Given the description of an element on the screen output the (x, y) to click on. 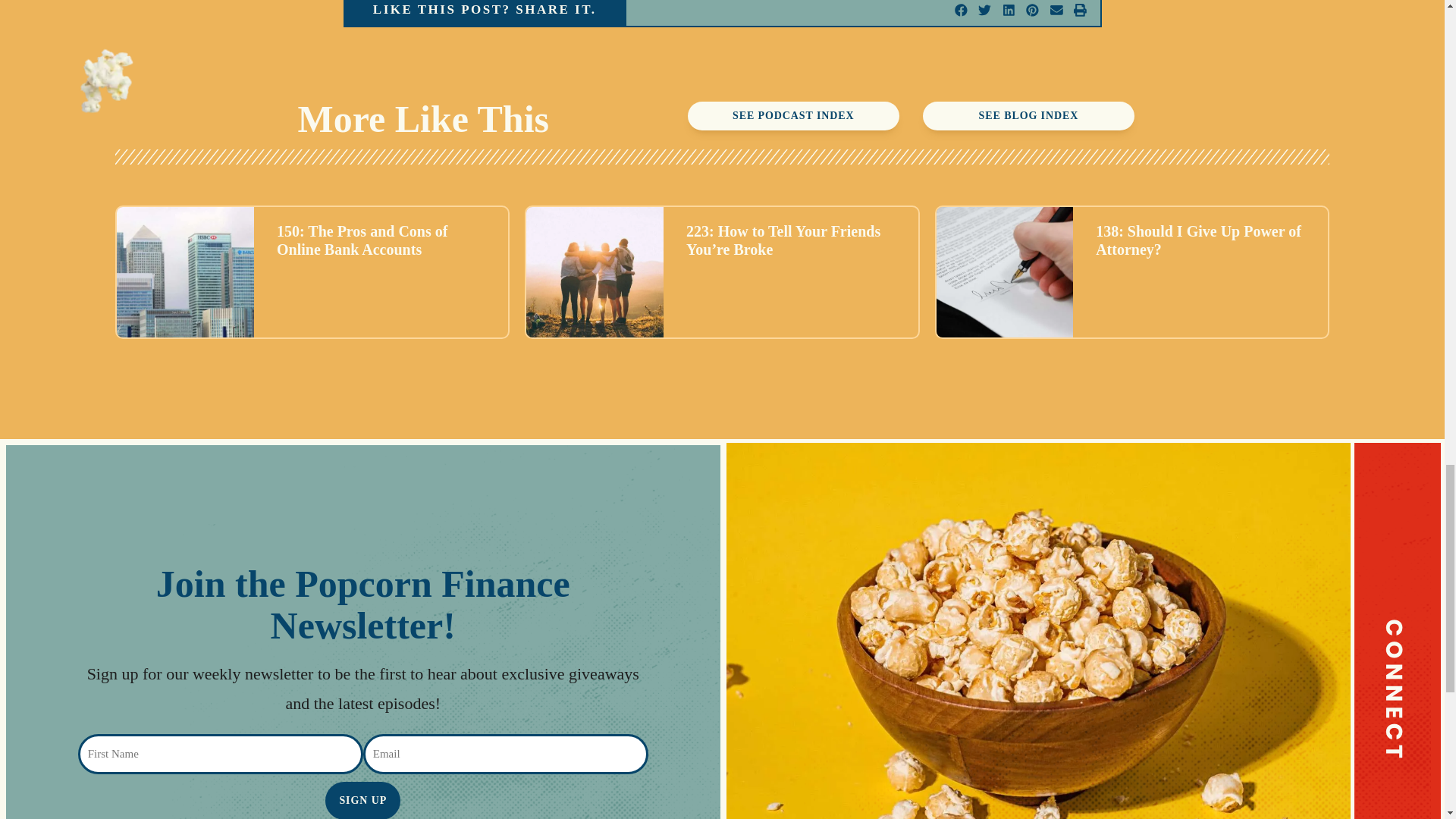
SEE PODCAST INDEX (793, 115)
